Given the description of an element on the screen output the (x, y) to click on. 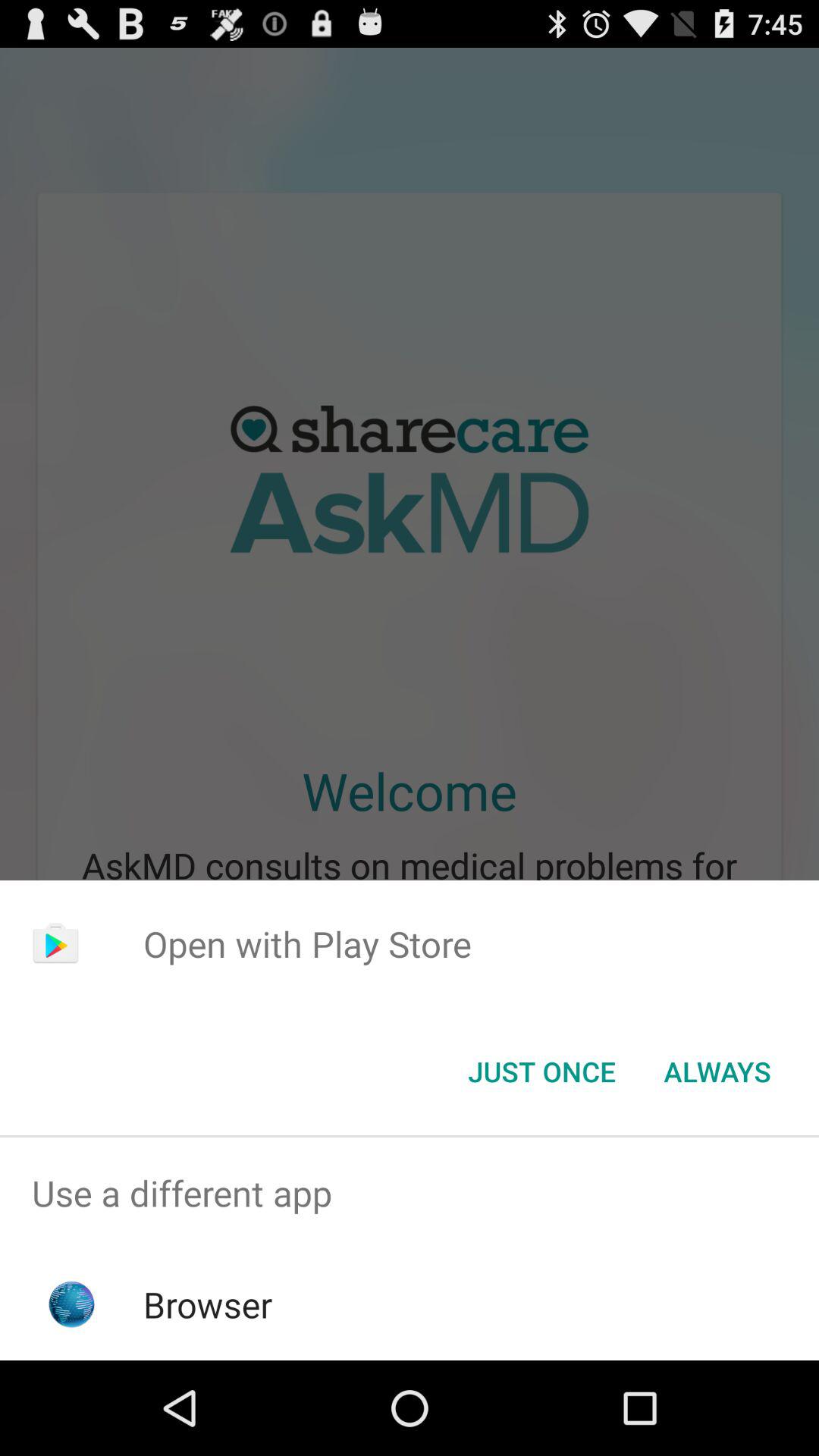
turn on icon below the open with play item (541, 1071)
